Given the description of an element on the screen output the (x, y) to click on. 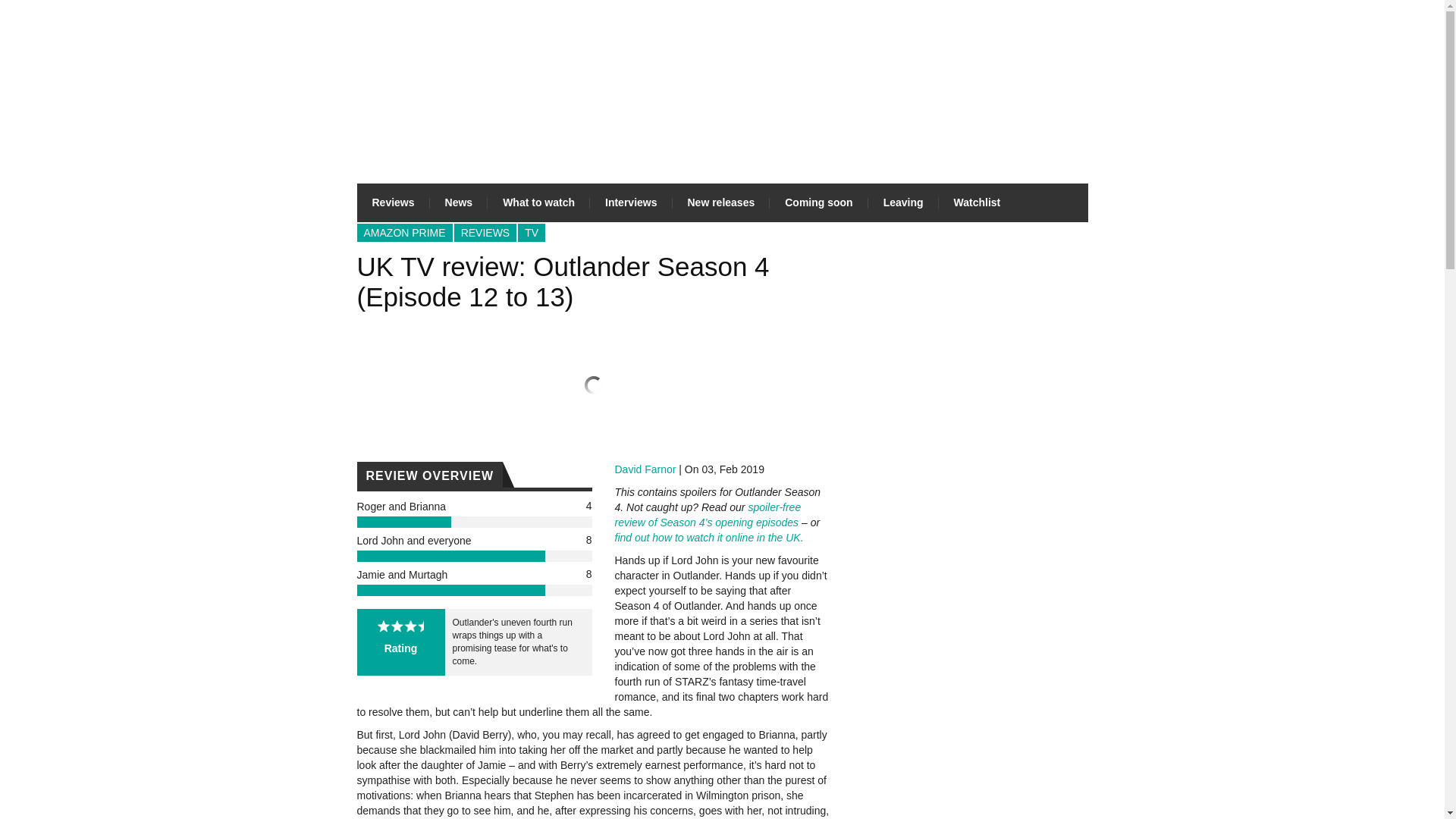
New releases (720, 202)
News (458, 202)
What to watch (538, 202)
Reviews (392, 202)
New releases (720, 202)
Interviews (630, 202)
Coming soon (818, 202)
